Given the description of an element on the screen output the (x, y) to click on. 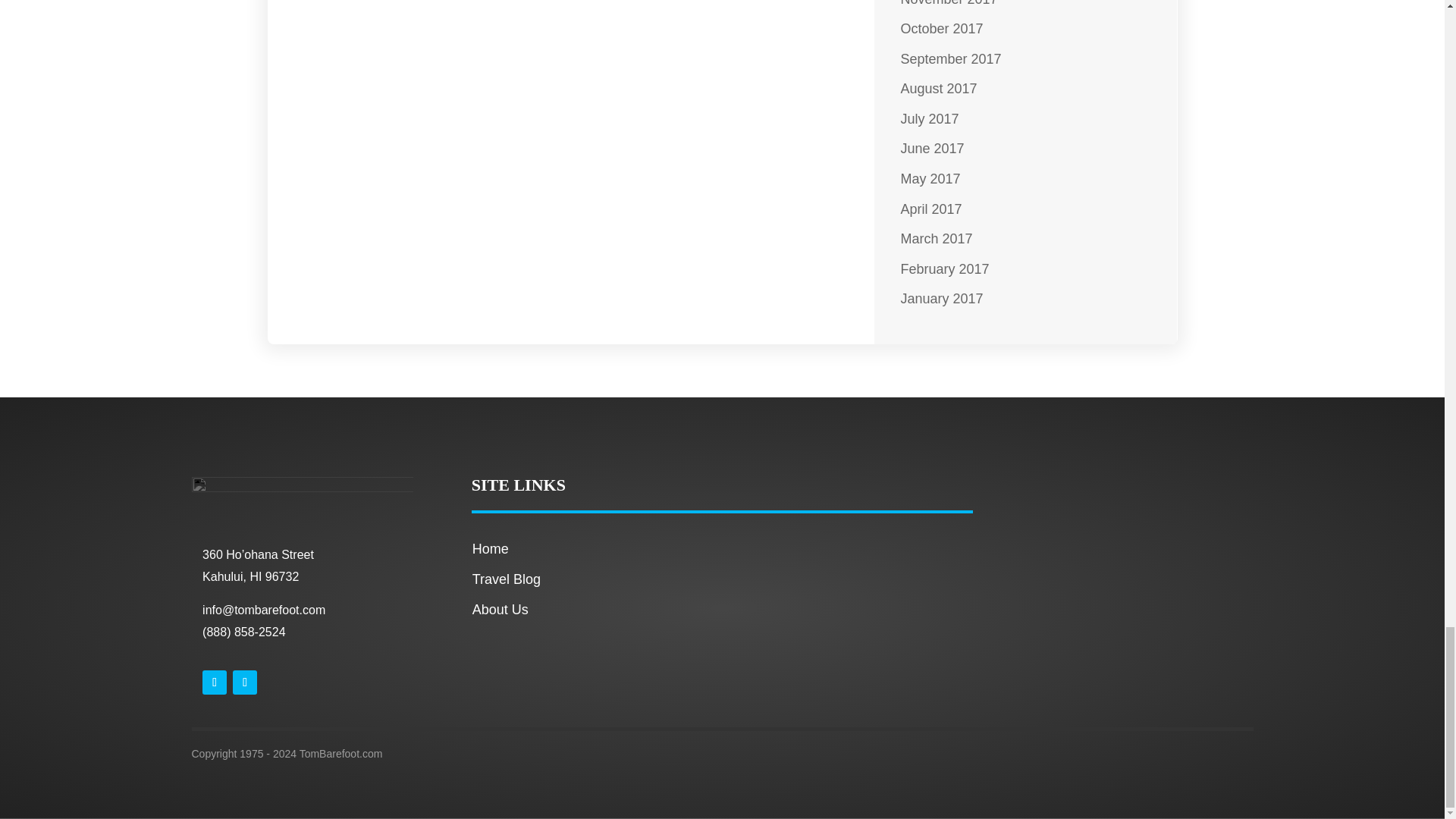
Follow on X (214, 682)
tomlogosbluefinal (301, 510)
Follow on Instagram (244, 682)
